Given the description of an element on the screen output the (x, y) to click on. 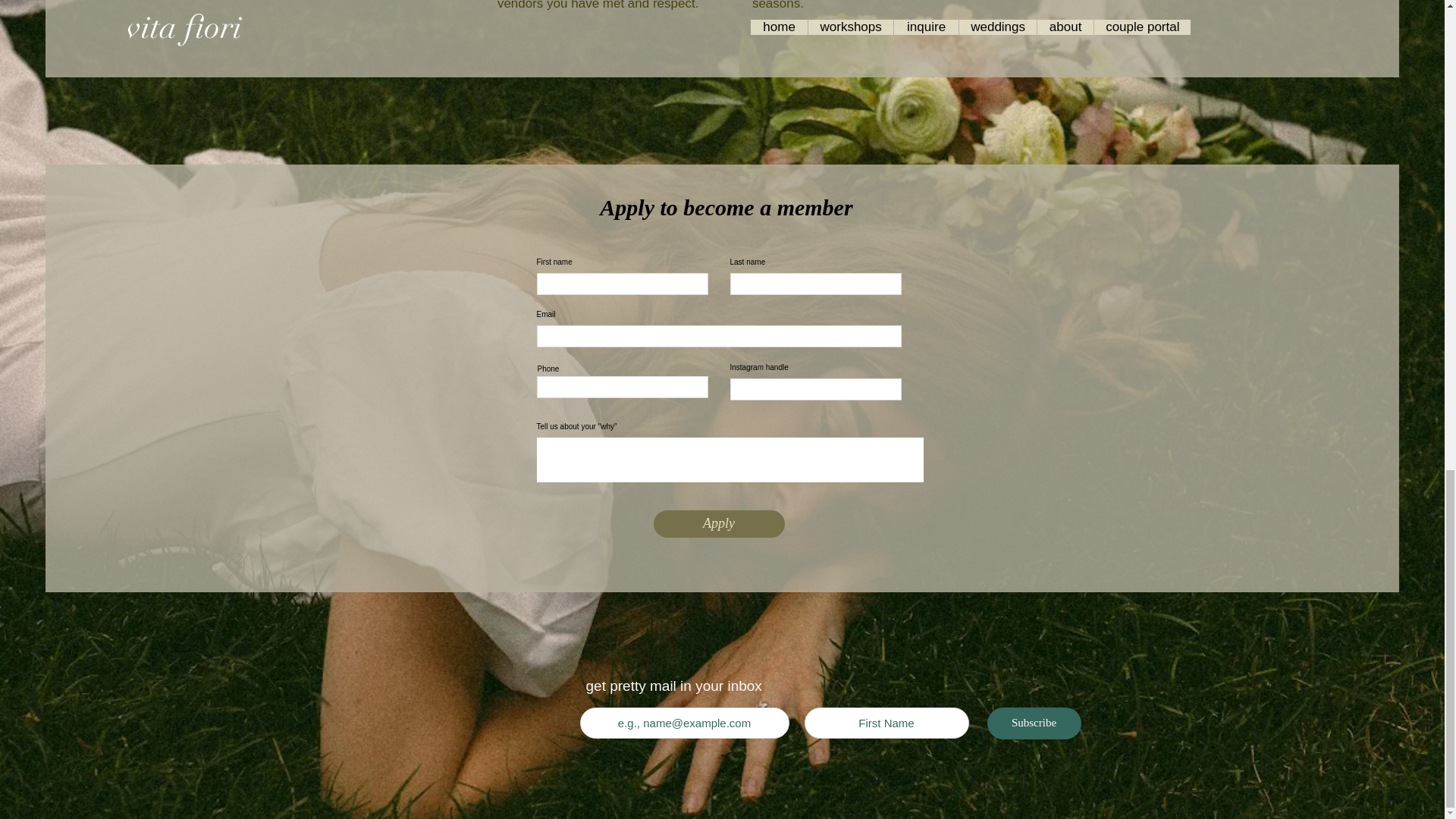
Subscribe (1034, 722)
Apply (718, 523)
